Given the description of an element on the screen output the (x, y) to click on. 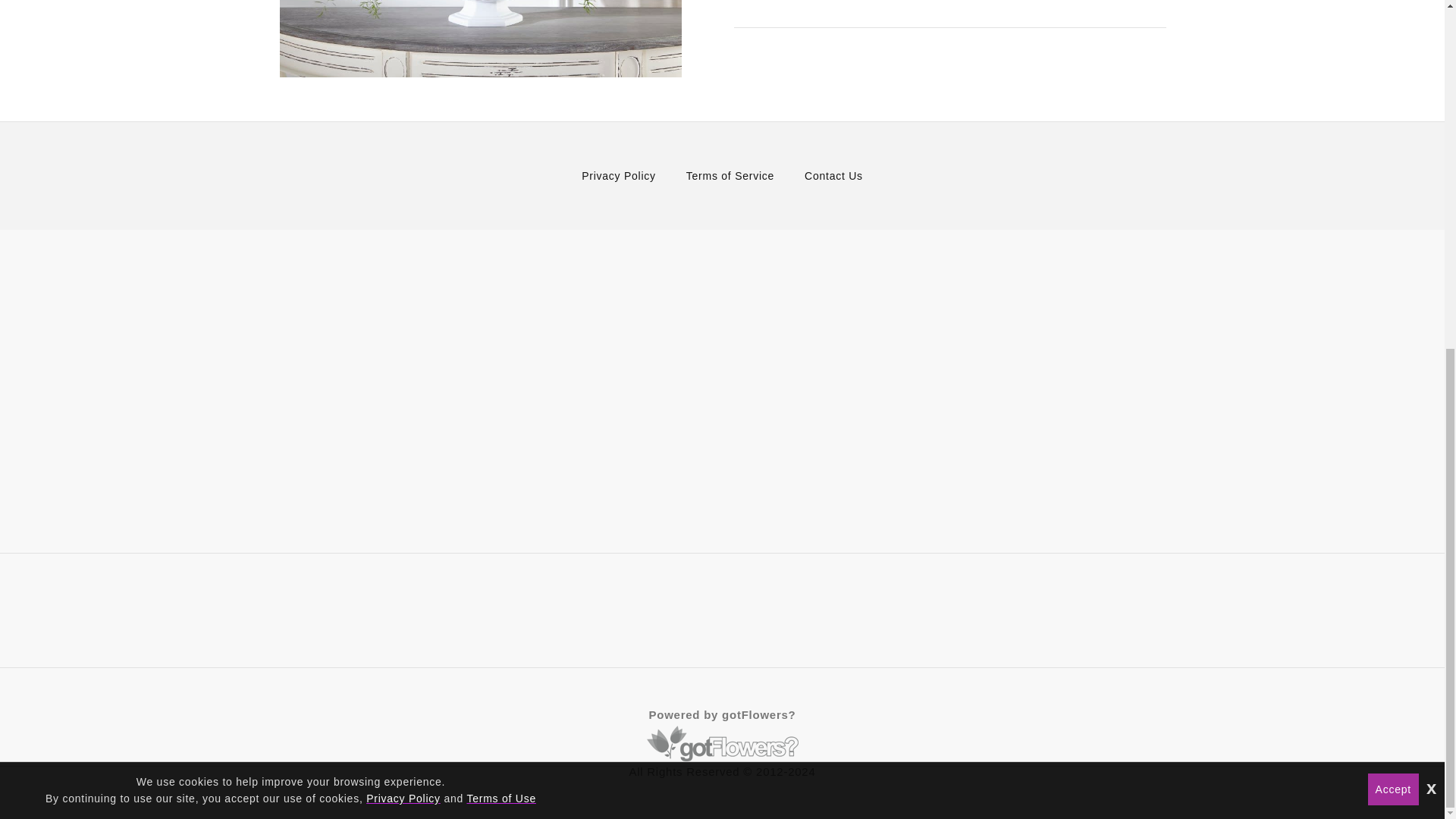
Terms of Service (729, 175)
Privacy Policy (618, 175)
Contact Us (834, 175)
